Given the description of an element on the screen output the (x, y) to click on. 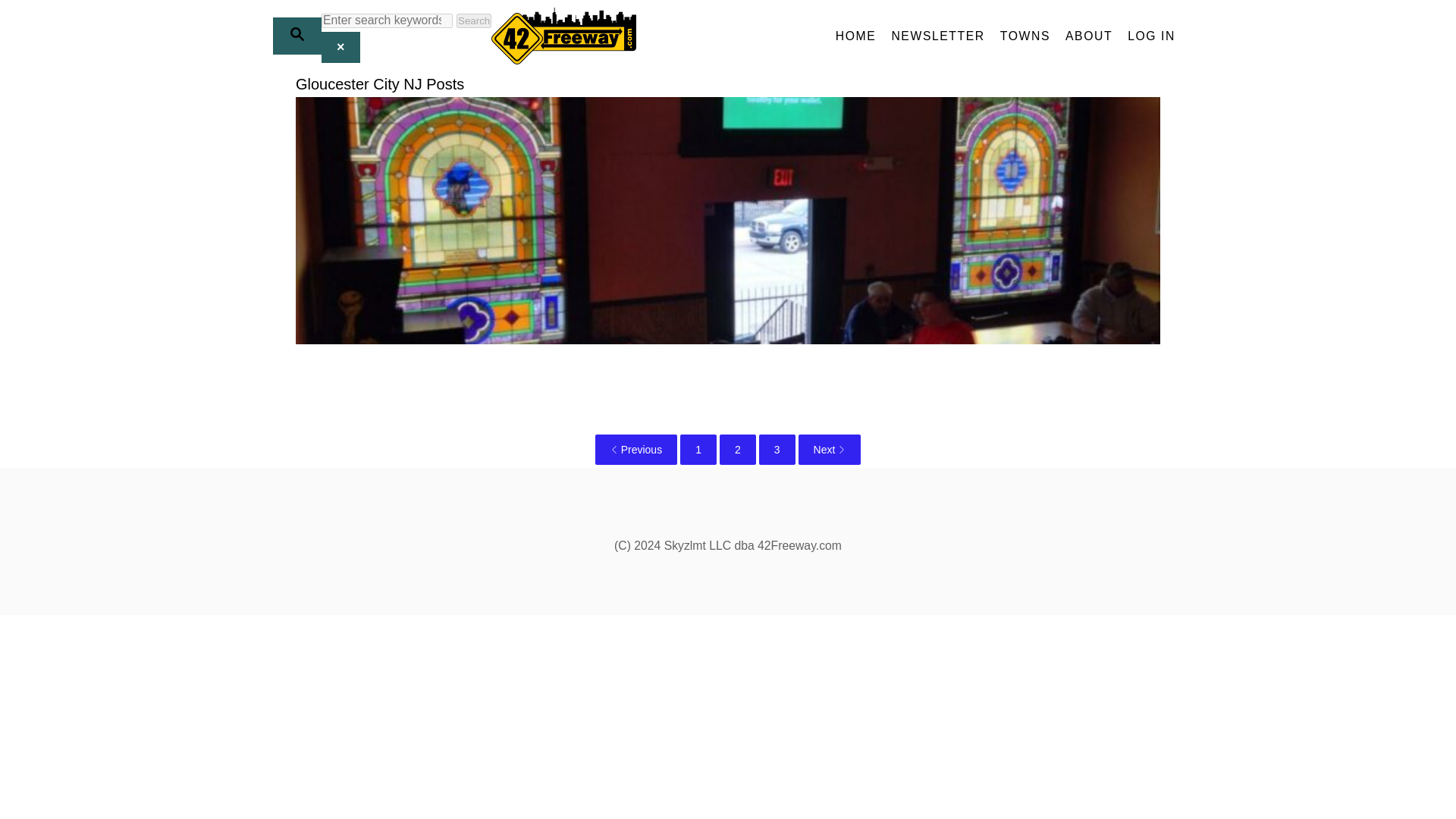
Next (829, 449)
1 (697, 449)
SEARCH (297, 35)
ABOUT (1088, 36)
Search (474, 20)
2 (737, 449)
Previous (636, 449)
Search (474, 20)
LOG IN (1150, 36)
Search (474, 20)
